Given the description of an element on the screen output the (x, y) to click on. 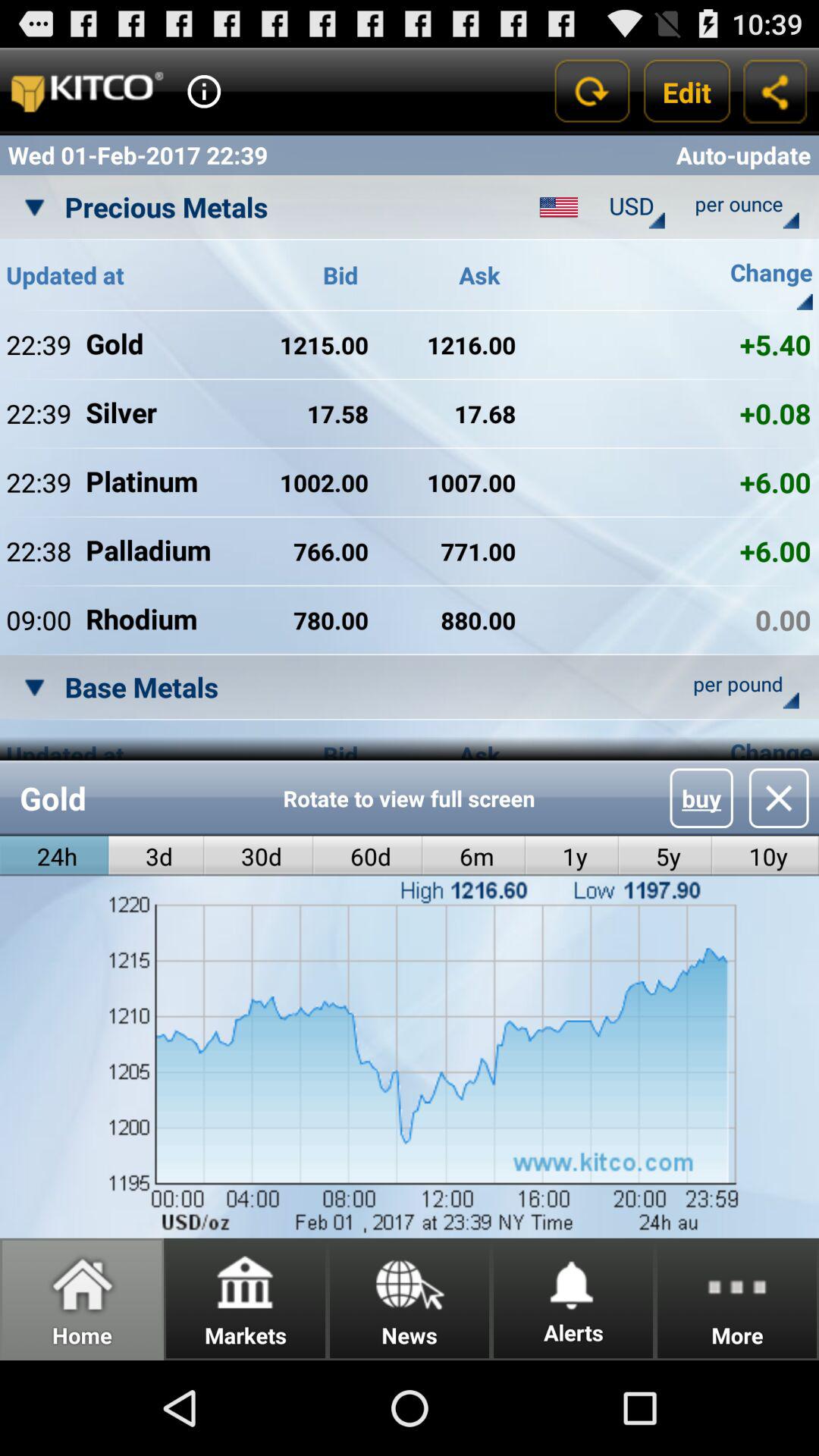
turn on app below the gold (156, 856)
